Given the description of an element on the screen output the (x, y) to click on. 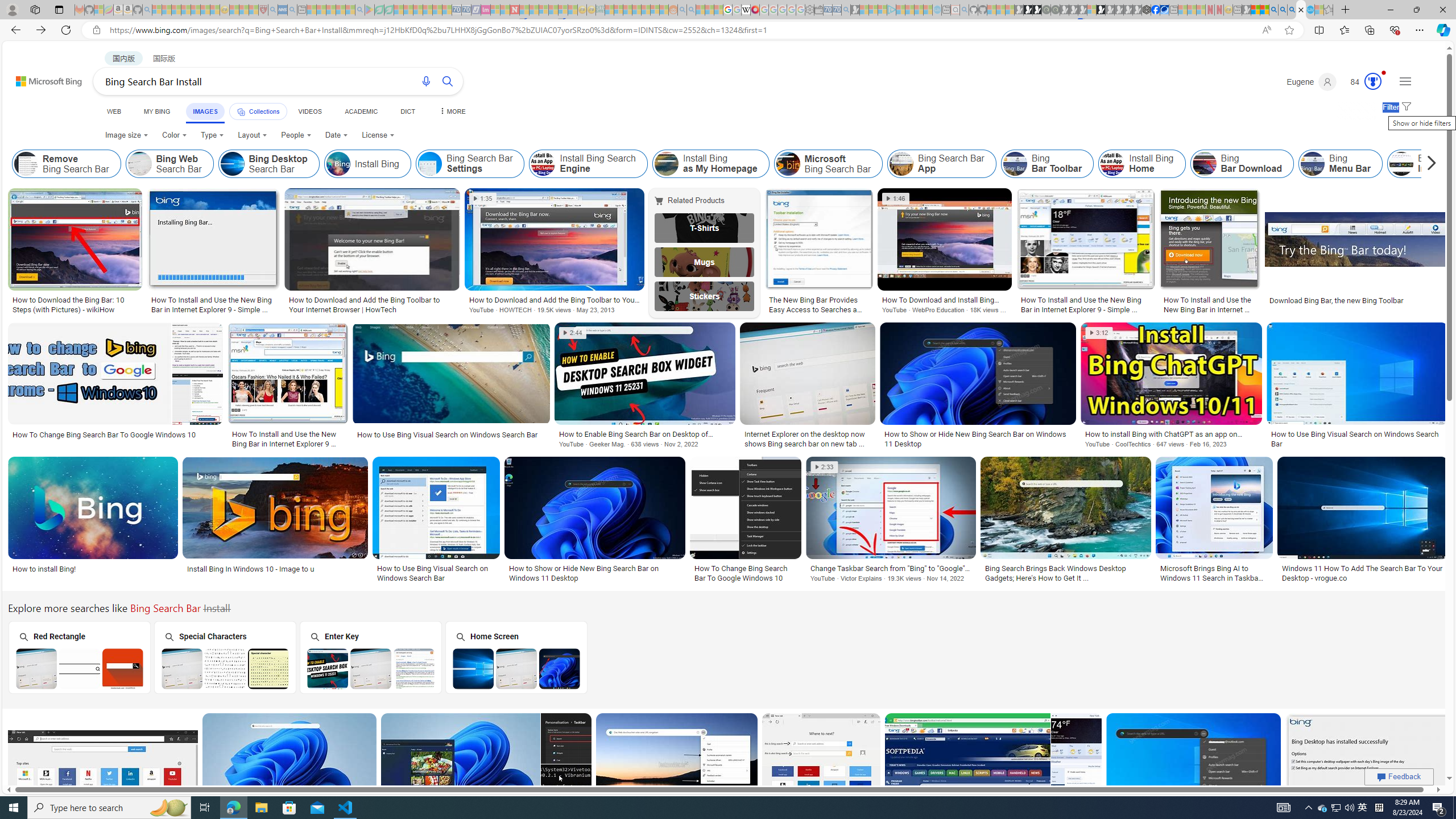
Install Bing (367, 163)
Type (212, 135)
Bing Menu Bar (1312, 163)
Class: b_pri_nav_svg (240, 112)
